Given the description of an element on the screen output the (x, y) to click on. 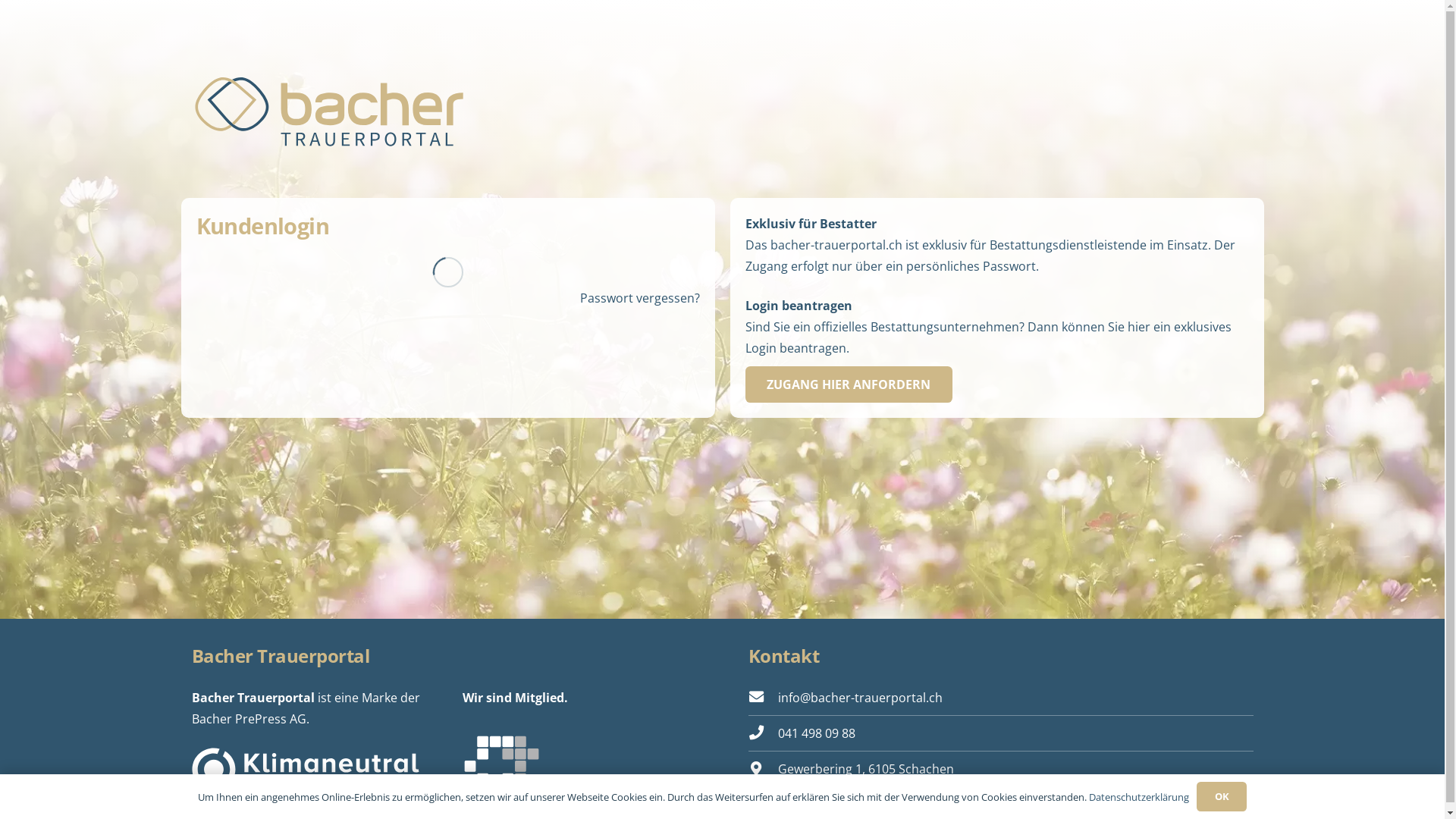
ZUGANG HIER ANFORDERN Element type: text (848, 384)
Bacher PrePress AG. Element type: text (249, 718)
Kontakt Element type: text (783, 655)
OK Element type: text (1221, 796)
041 498 09 88 Element type: text (816, 732)
info@bacher-trauerportal.ch Element type: text (860, 697)
Passwort vergessen? Element type: text (639, 297)
Kundenlogin Element type: hover (762, 697)
